Given the description of an element on the screen output the (x, y) to click on. 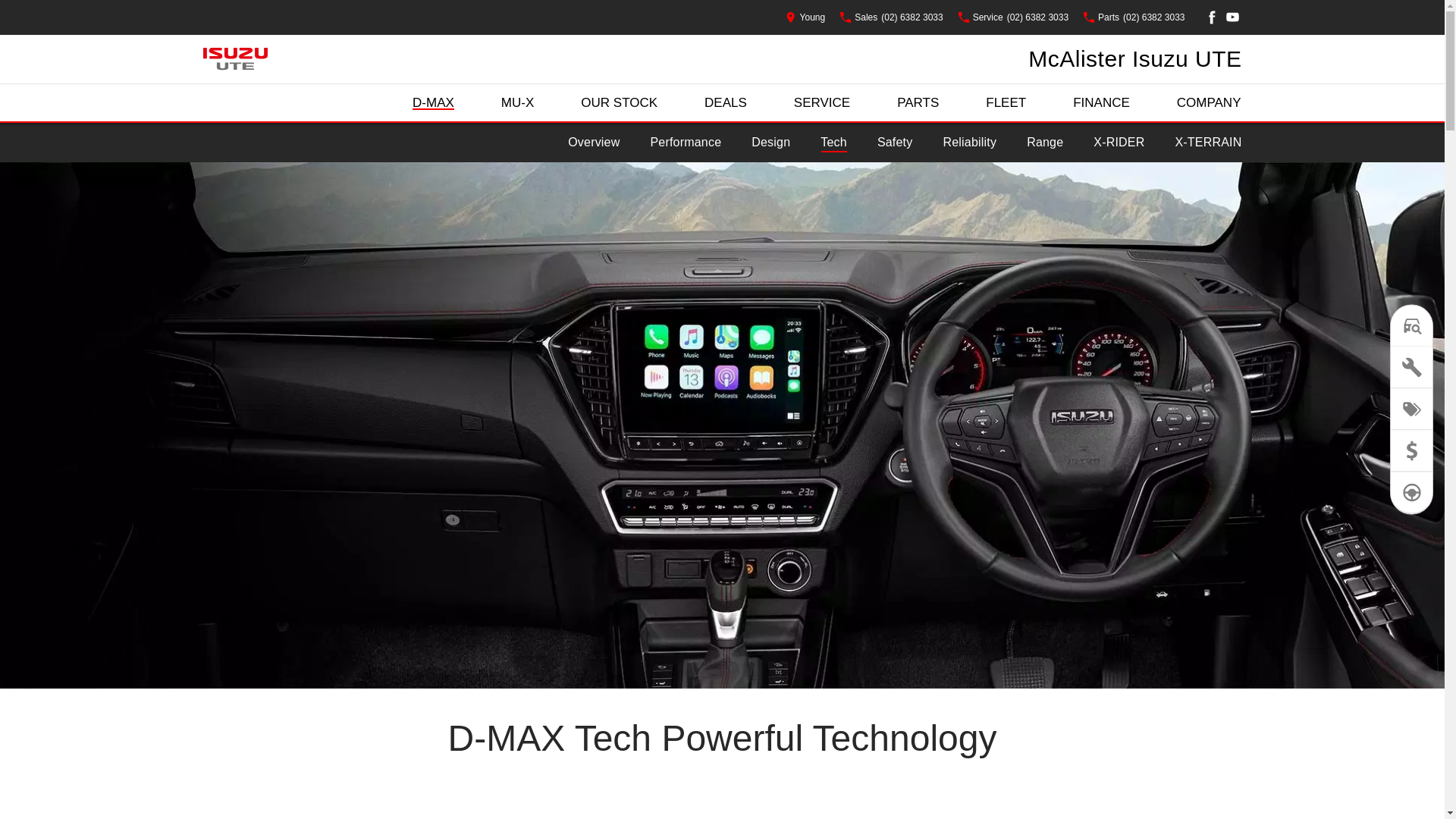
Design Element type: text (770, 142)
Performance Element type: text (685, 142)
Reliability Element type: text (969, 142)
Range Element type: text (1044, 142)
SERVICE Element type: text (821, 102)
OUR STOCK Element type: text (618, 102)
FLEET Element type: text (1005, 102)
Tech Element type: text (833, 142)
DEALS Element type: text (725, 102)
X-RIDER Element type: text (1118, 142)
McAlister Isuzu UTE Element type: text (1134, 59)
D-MAX Element type: text (433, 102)
MU-X Element type: text (517, 102)
Sales
(02) 6382 3033 Element type: text (891, 16)
Overview Element type: text (593, 142)
X-TERRAIN Element type: text (1207, 142)
Young Element type: text (805, 16)
PARTS Element type: text (917, 102)
Safety Element type: text (894, 142)
COMPANY Element type: text (1208, 102)
Service
(02) 6382 3033 Element type: text (1013, 16)
FINANCE Element type: text (1101, 102)
Parts
(02) 6382 3033 Element type: text (1133, 16)
